Given the description of an element on the screen output the (x, y) to click on. 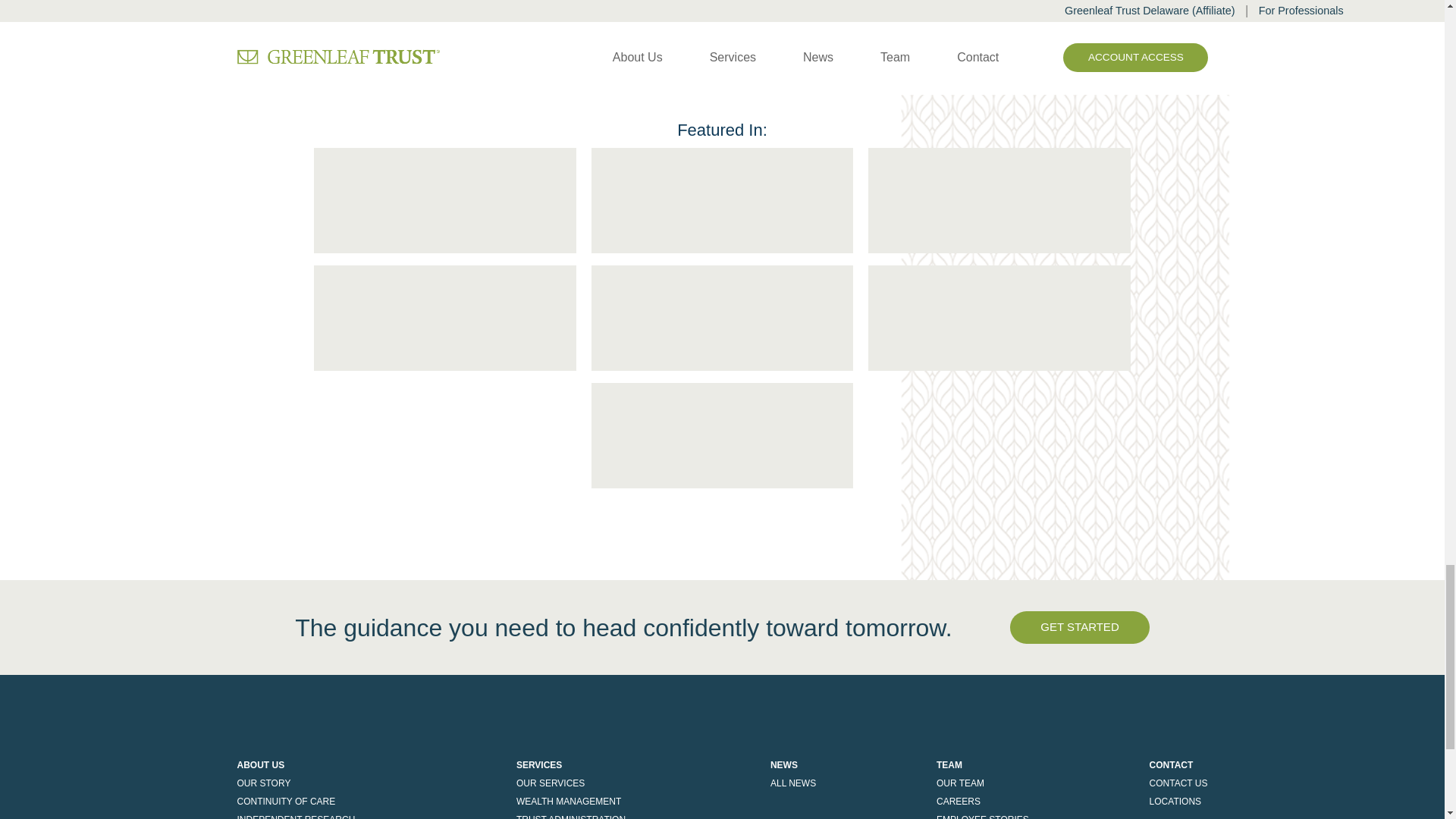
Visit USA Today Website (445, 200)
Visit Forbes Website (999, 200)
Visit Bloomberg Website (721, 435)
Visit MSN Website (445, 317)
Visit Yahoo Finance Website (999, 317)
Visit Barron's Website (721, 200)
